Given the description of an element on the screen output the (x, y) to click on. 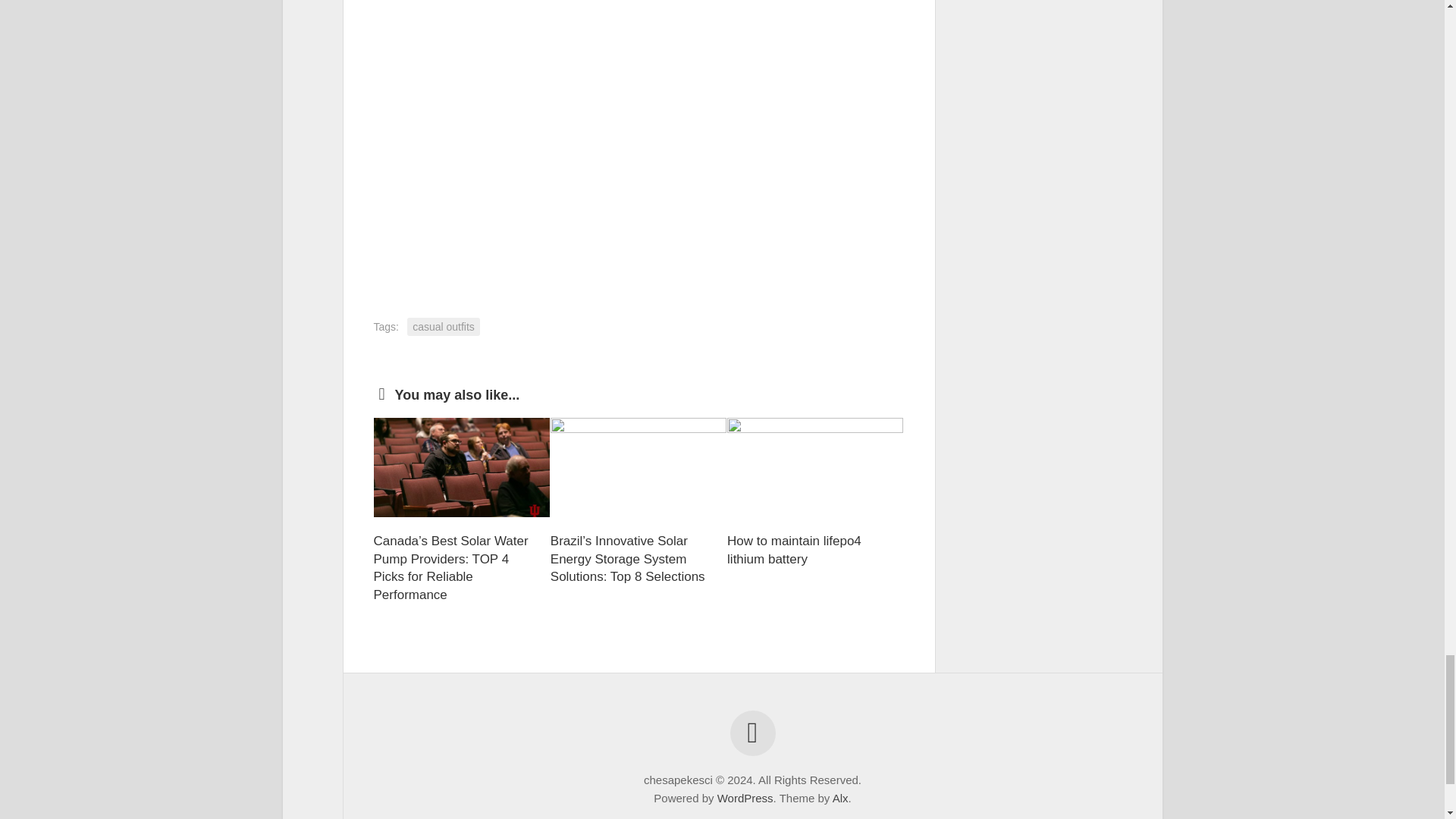
Alx (840, 797)
casual outfits (443, 326)
How to maintain lifepo4 lithium battery (793, 549)
WordPress (745, 797)
